Given the description of an element on the screen output the (x, y) to click on. 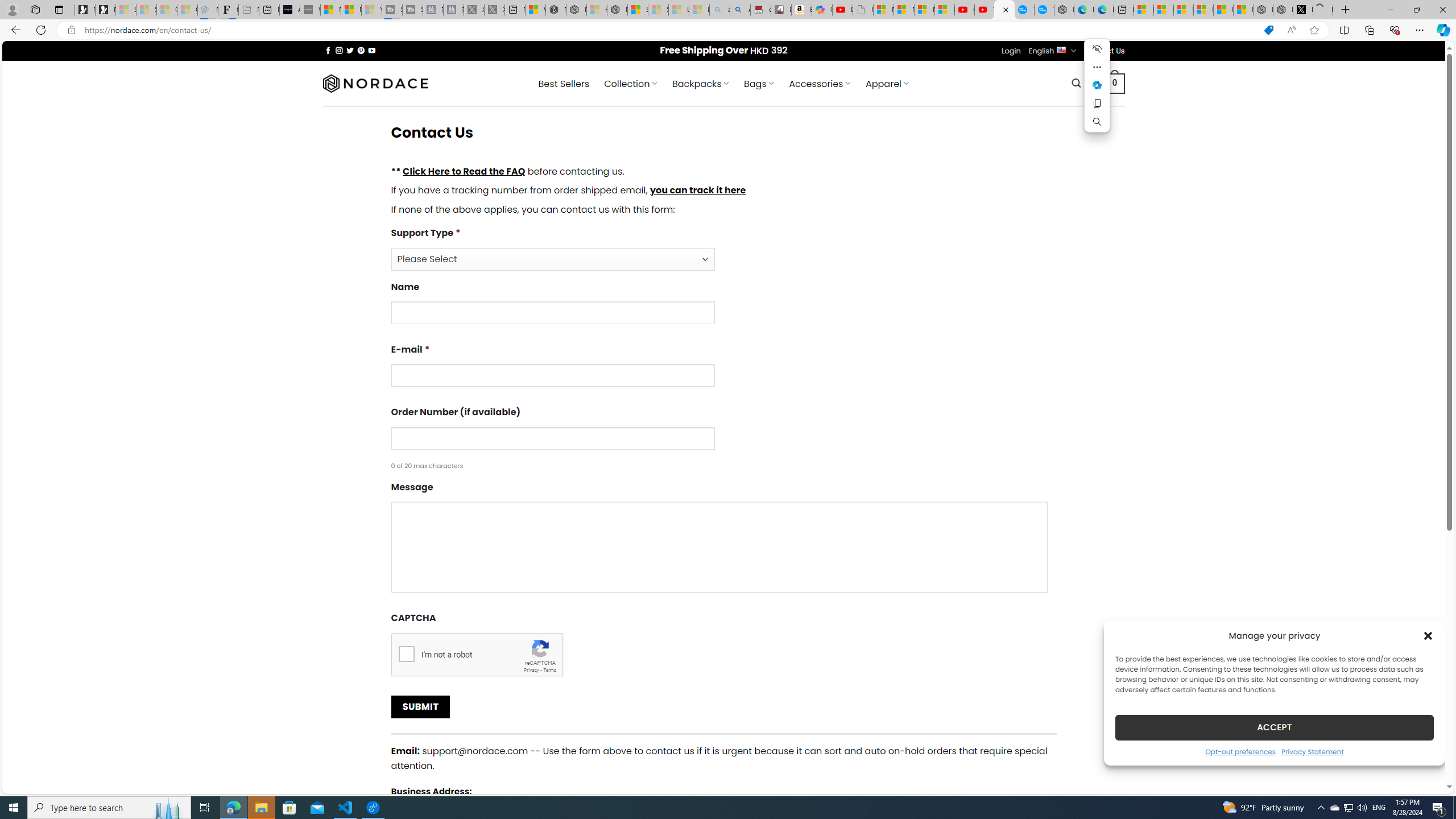
Message (723, 540)
CAPTCHAPrivacyTerms (723, 643)
Privacy Statement (1312, 750)
you can track it here (697, 190)
ACCEPT (1274, 727)
Order Number (if available) (552, 437)
